Given the description of an element on the screen output the (x, y) to click on. 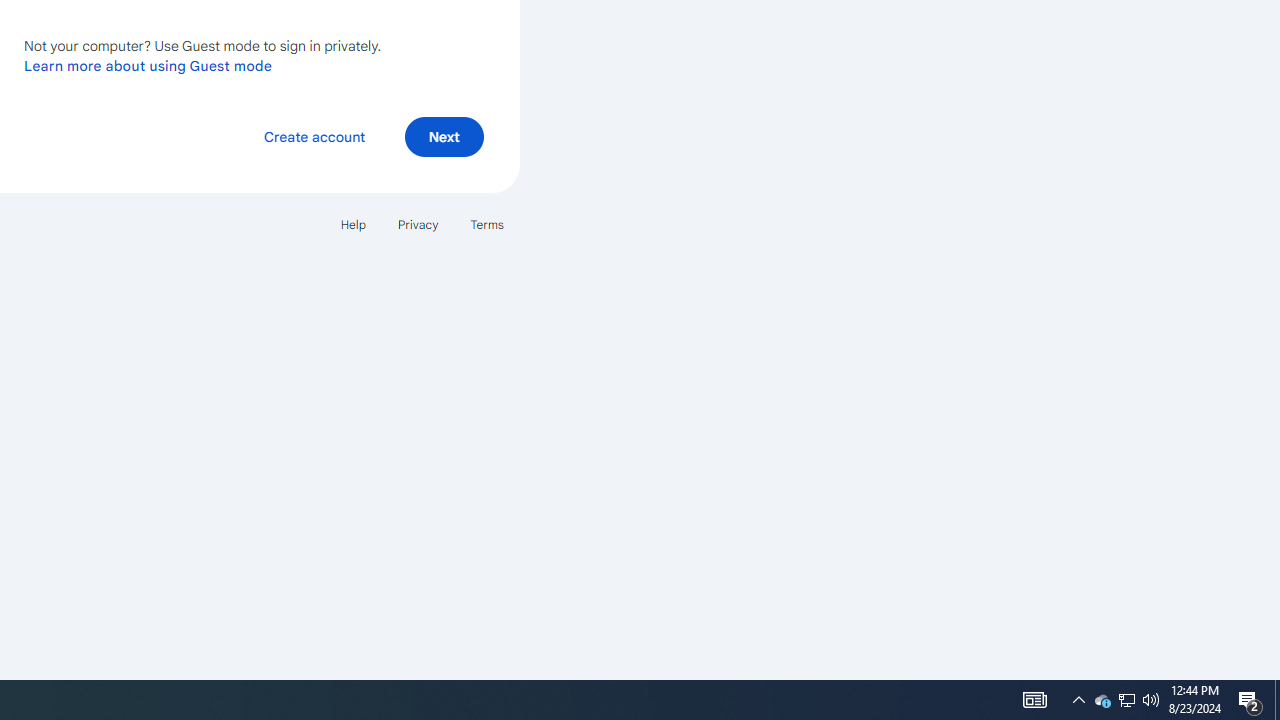
Learn more about using Guest mode (148, 65)
Create account (314, 135)
